Given the description of an element on the screen output the (x, y) to click on. 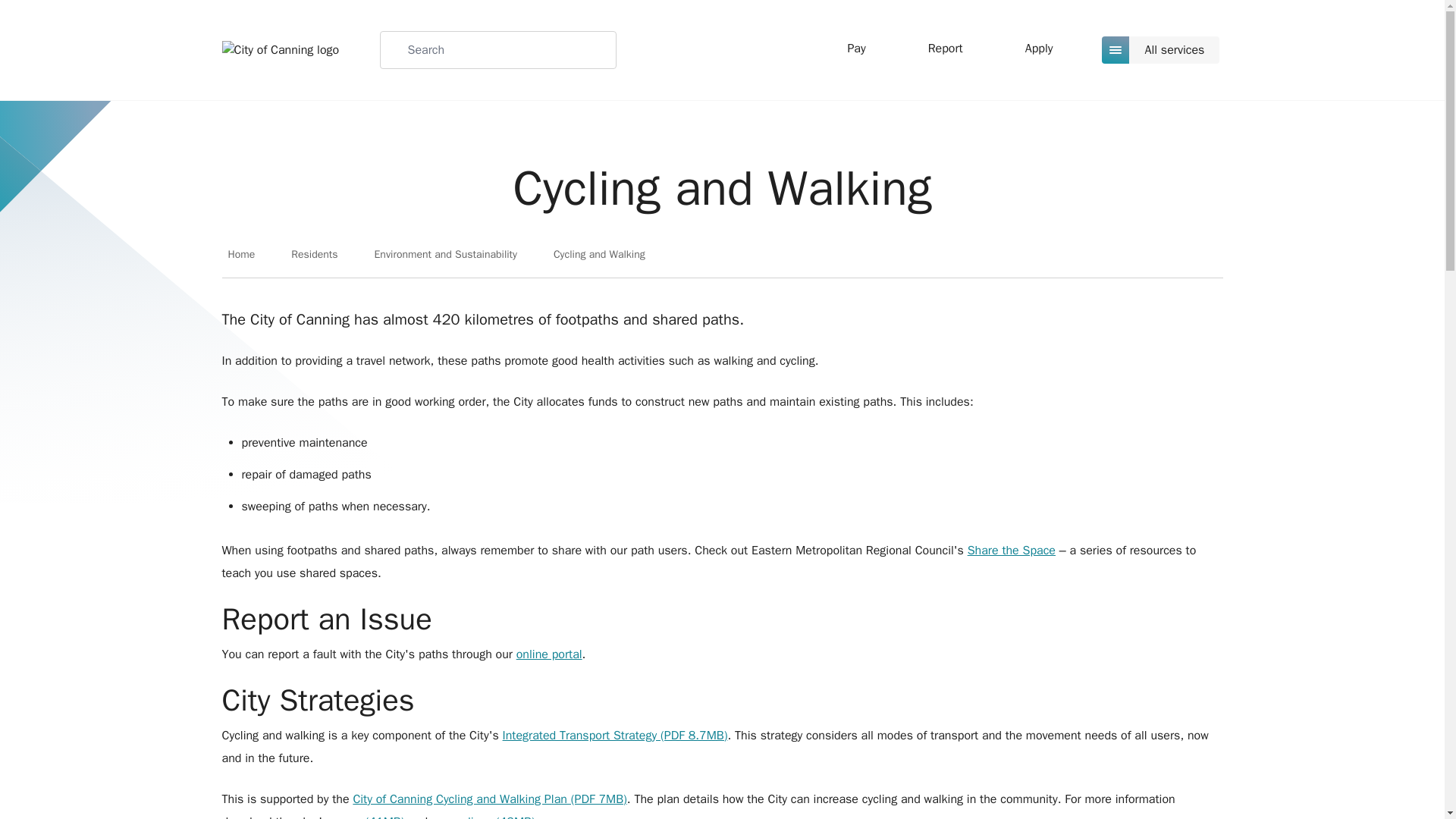
All services (1162, 49)
Cycling Walking Plan Maps (367, 816)
Link to Share the Space website, opening in a new window (1011, 549)
Cycling Walking Plan Maps Appendices (482, 816)
Integrated Transport Strategy (615, 735)
Cycling Walking Plan (489, 798)
Link to Report an Issue website, opening in a new window (549, 654)
